Given the description of an element on the screen output the (x, y) to click on. 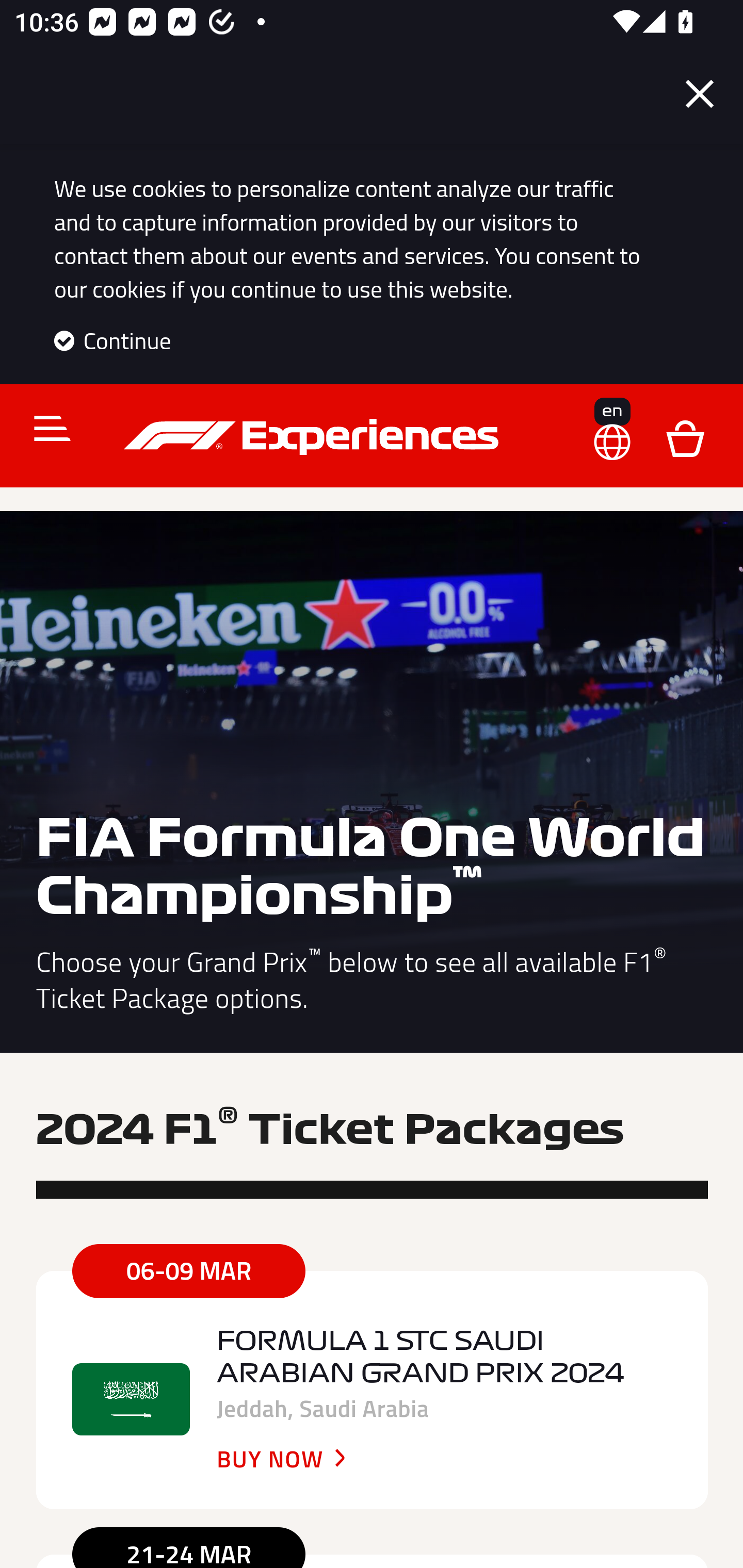
Close (699, 93)
Continue (112, 340)
Toggle navigation C (43, 428)
D (684, 437)
f1experiences (313, 437)
